Given the description of an element on the screen output the (x, y) to click on. 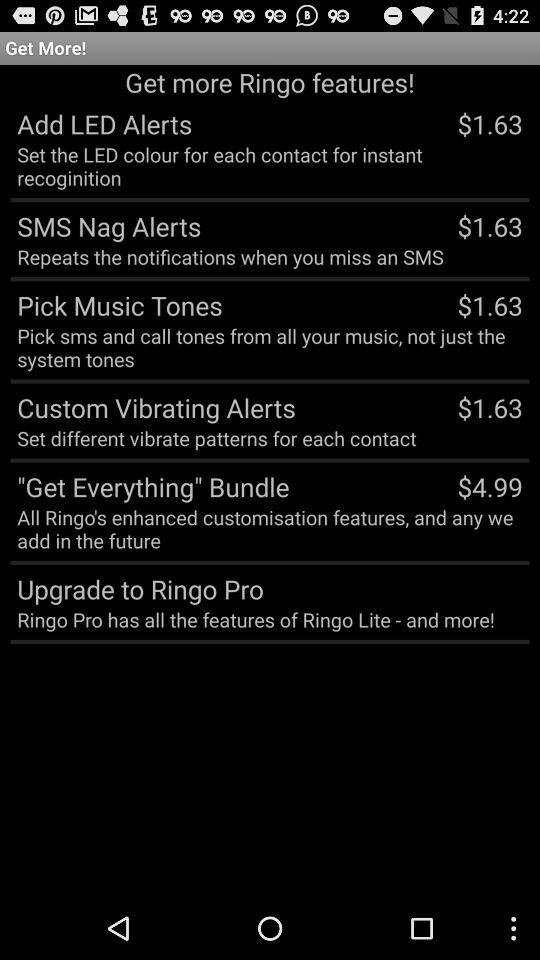
open the app next to the $1.63 app (152, 407)
